Given the description of an element on the screen output the (x, y) to click on. 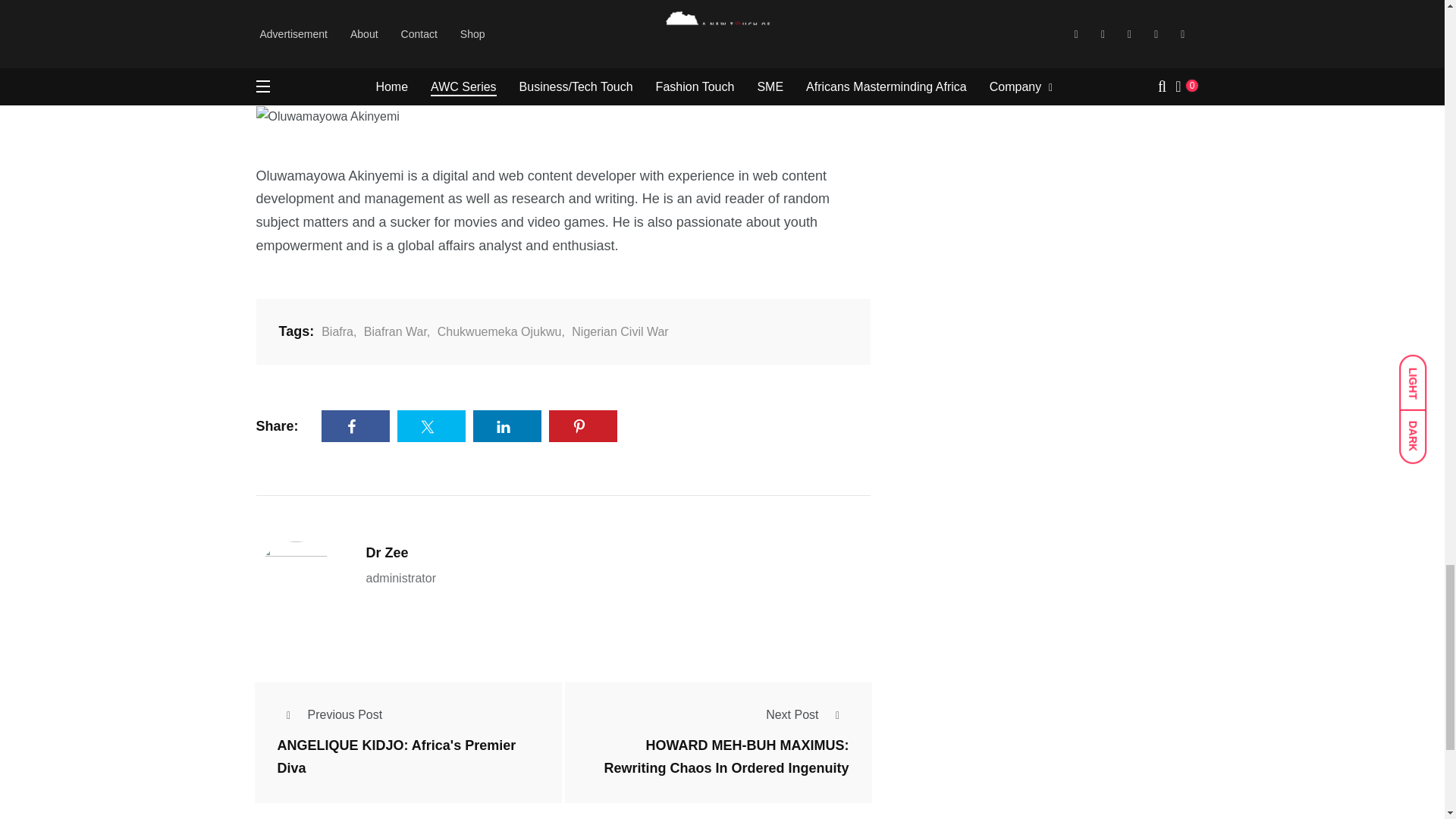
Share on Facebook (355, 425)
Share on Twitter (431, 425)
Share on LinkedIn (507, 425)
Share on Pinterest (582, 425)
